Given the description of an element on the screen output the (x, y) to click on. 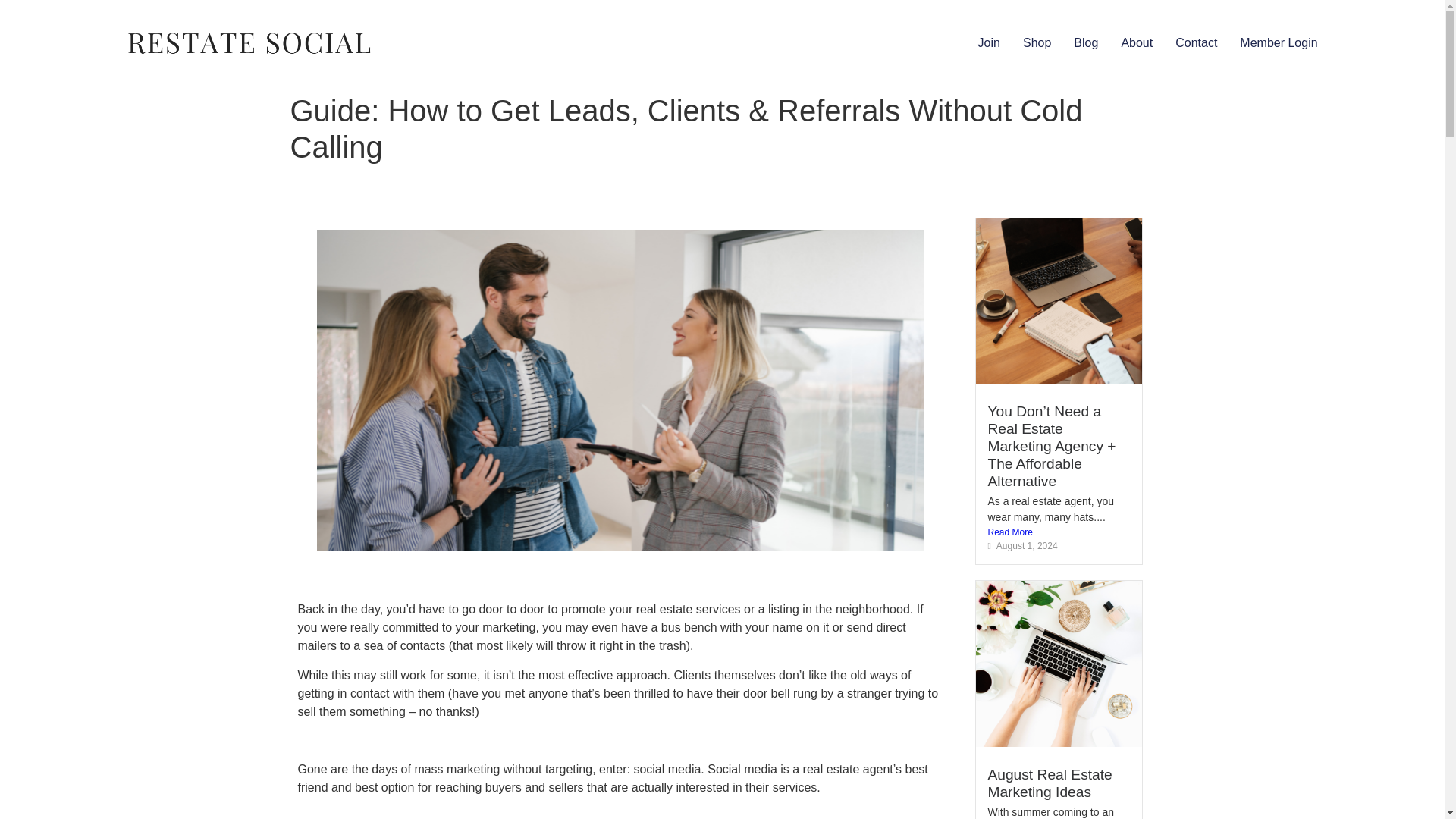
Join (988, 43)
About (1136, 43)
Read More (1058, 531)
Contact (1195, 43)
August Real Estate Marketing Ideas (1049, 783)
Shop (1036, 43)
August Real Estate Marketing Ideas (1049, 783)
Blog (1085, 43)
Member Login (1277, 43)
